Given the description of an element on the screen output the (x, y) to click on. 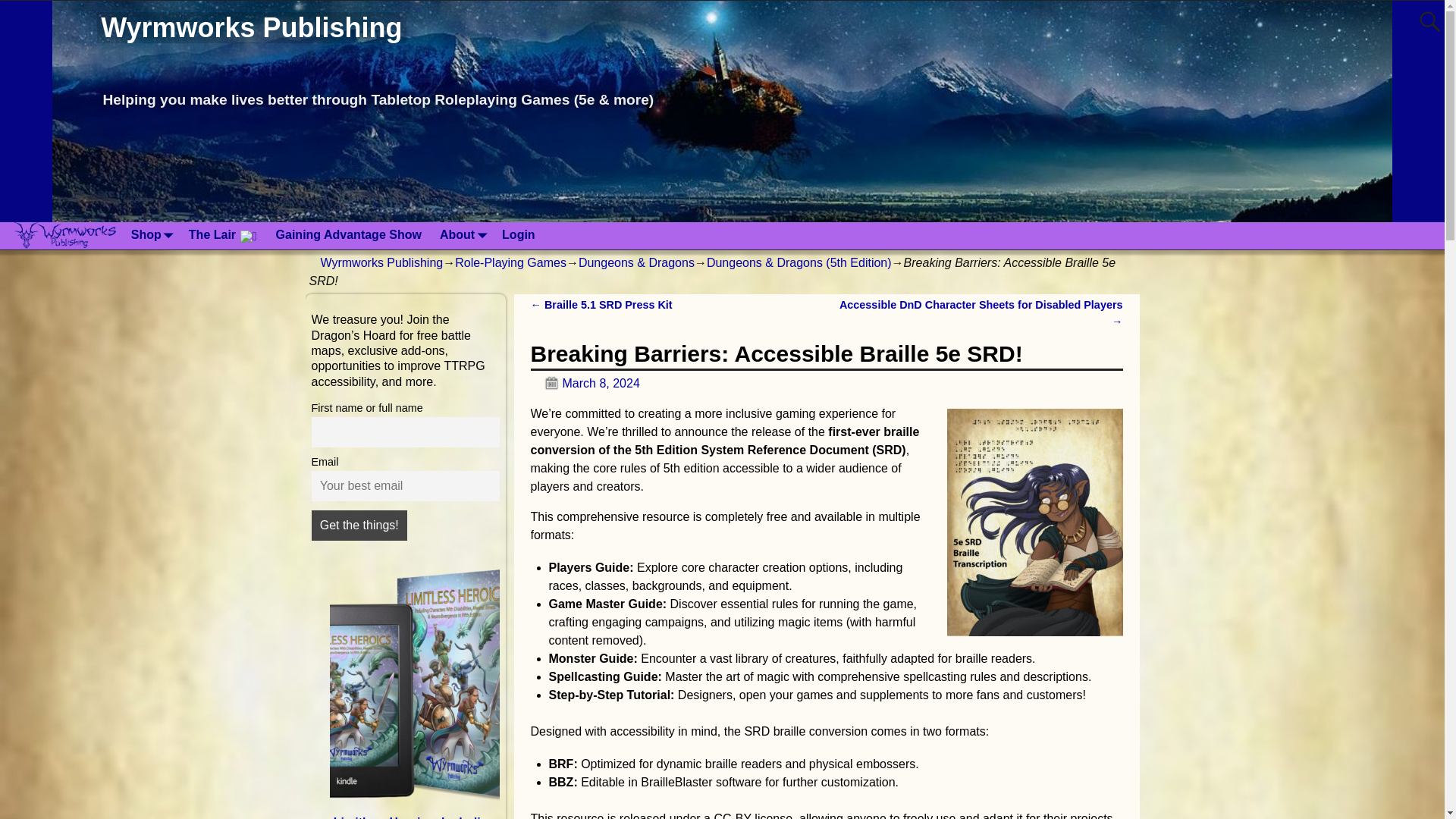
Get the things! (358, 525)
About (461, 234)
Wyrmworks Publishing (381, 262)
Shop (150, 234)
The Lair (222, 235)
Login (518, 234)
Wyrmworks Publishing (251, 27)
Gaining Advantage Show (348, 234)
March 8, 2024 (585, 382)
Wyrmworks Publishing (251, 27)
